Given the description of an element on the screen output the (x, y) to click on. 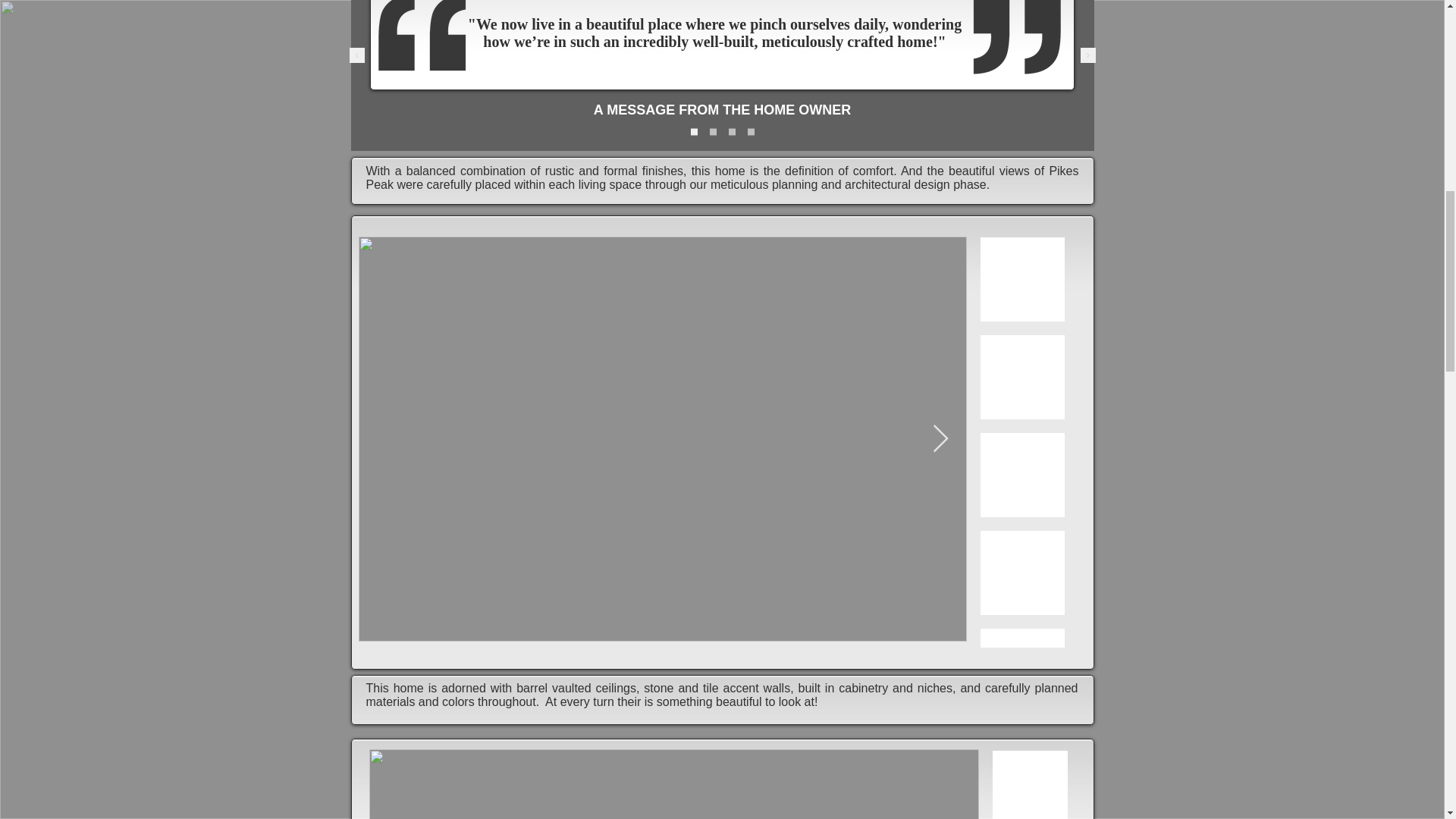
Quotation-Mark-PNG-Free-Download.png (1017, 38)
Quotation-Mark-PNG-Free-Download.png (420, 38)
